Given the description of an element on the screen output the (x, y) to click on. 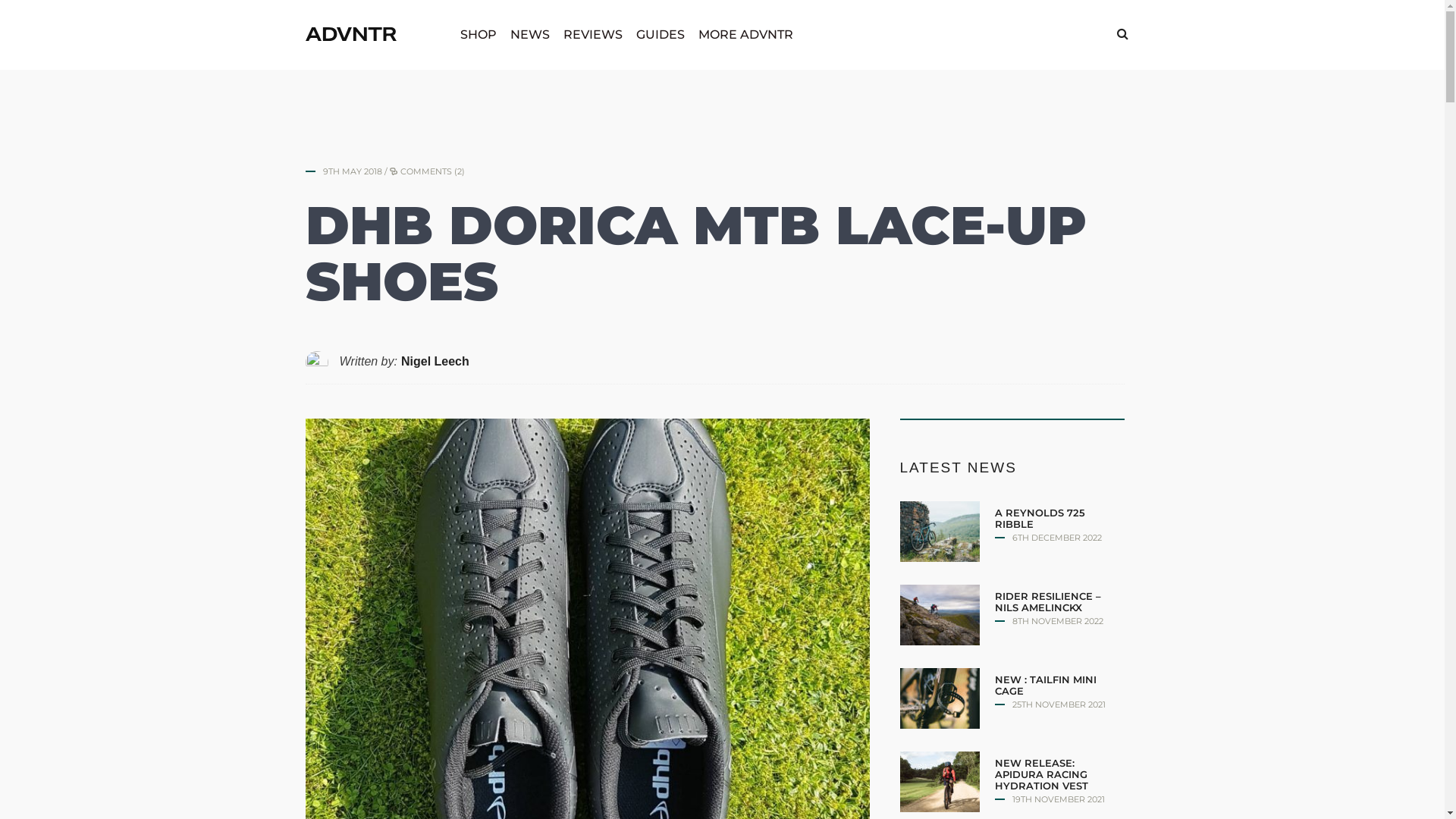
Nigel Leech Element type: text (435, 360)
NEW RELEASE: APIDURA RACING HYDRATION VEST Element type: text (1041, 773)
MORE ADVNTR Element type: text (745, 34)
REVIEWS Element type: text (592, 34)
GUIDES Element type: text (660, 34)
A REYNOLDS 725 RIBBLE Element type: text (1039, 518)
NEWS Element type: text (529, 34)
SHOP Element type: text (478, 34)
COMMENTS (2) Element type: text (432, 171)
LATEST NEWS Element type: text (957, 467)
NEW : TAILFIN MINI CAGE Element type: text (1045, 684)
